Given the description of an element on the screen output the (x, y) to click on. 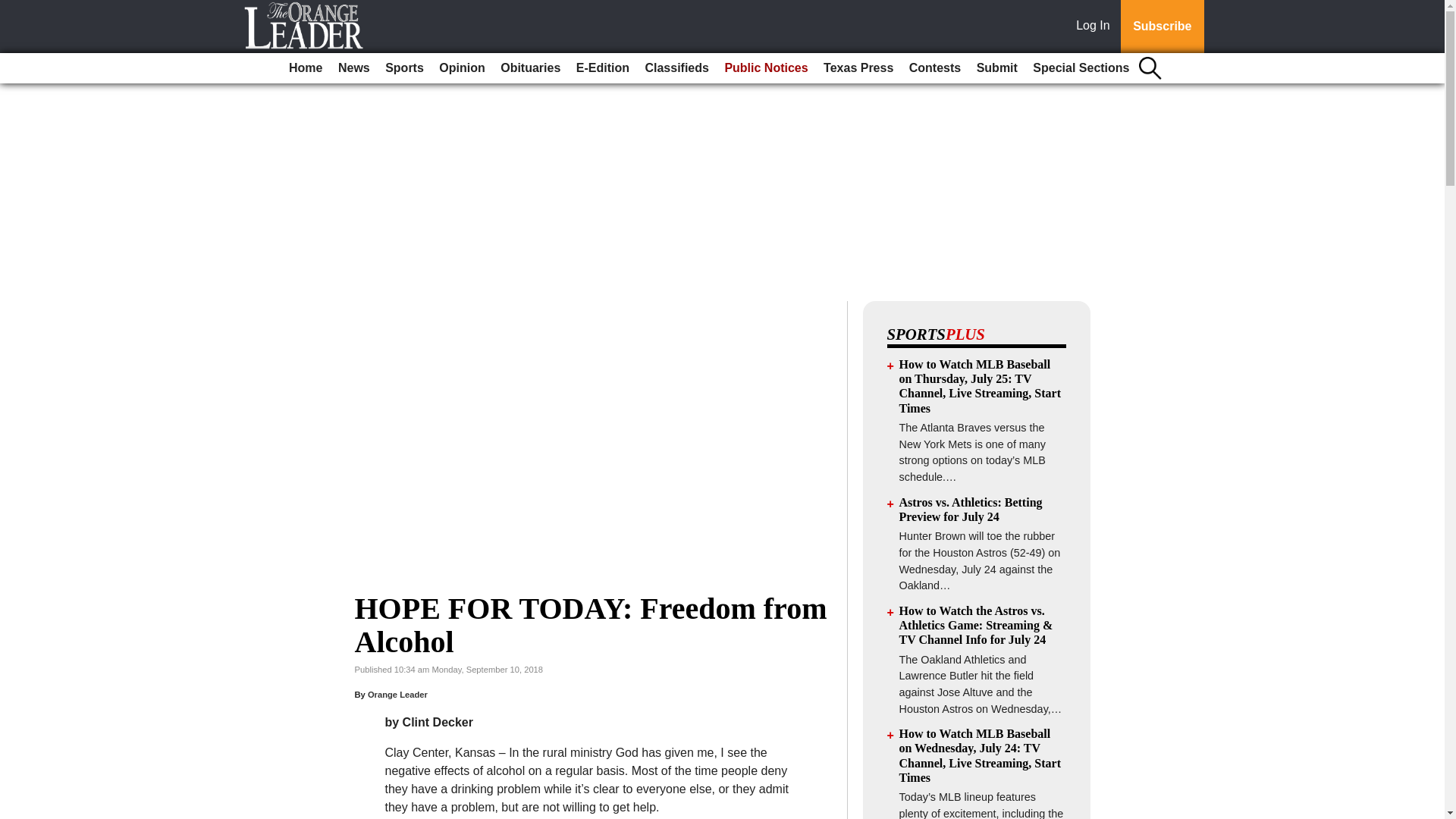
Astros vs. Athletics: Betting Preview for July 24 (970, 509)
Log In (1095, 26)
E-Edition (602, 68)
News (353, 68)
Classifieds (676, 68)
Subscribe (1162, 26)
Sports (403, 68)
Orange Leader (398, 694)
Contests (934, 68)
Go (13, 9)
Texas Press (857, 68)
Opinion (461, 68)
Submit (997, 68)
